Given the description of an element on the screen output the (x, y) to click on. 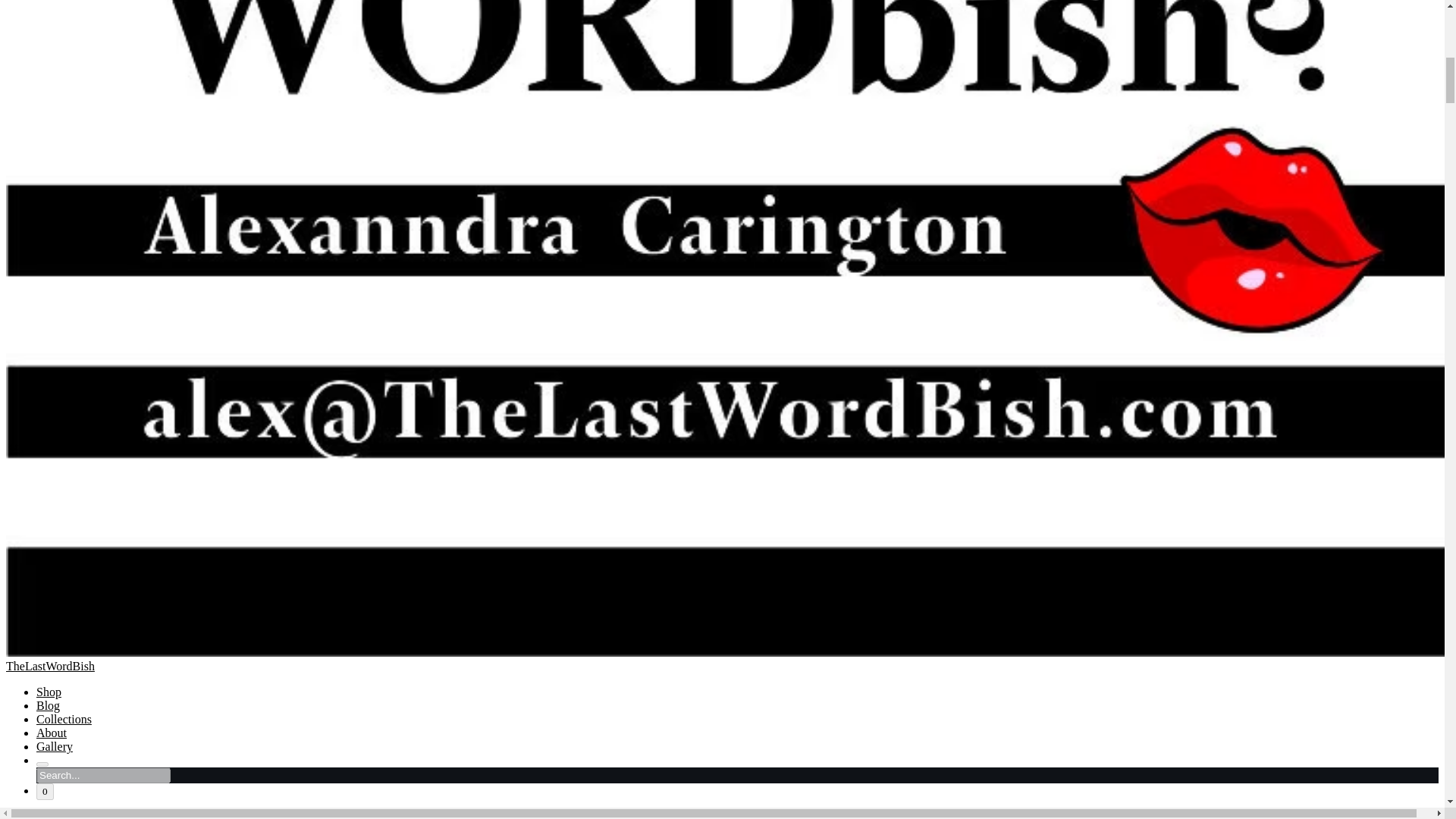
About (51, 732)
0 (44, 791)
Collections (63, 718)
Gallery (54, 746)
Shop (48, 691)
Blog (47, 705)
